Given the description of an element on the screen output the (x, y) to click on. 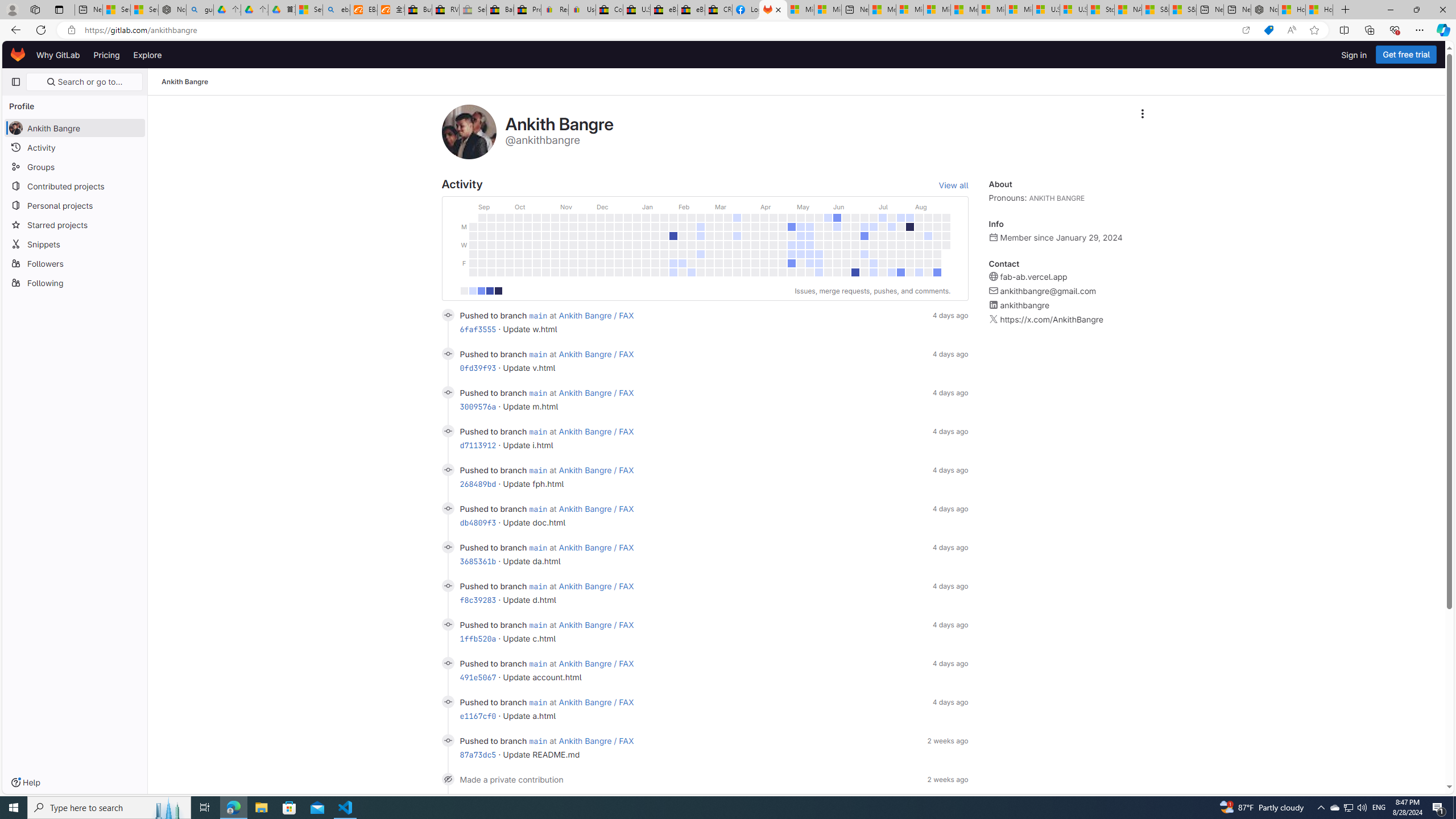
No contributions (463, 290)
Get free trial (1406, 54)
User Privacy Notice | eBay (581, 9)
